Given the description of an element on the screen output the (x, y) to click on. 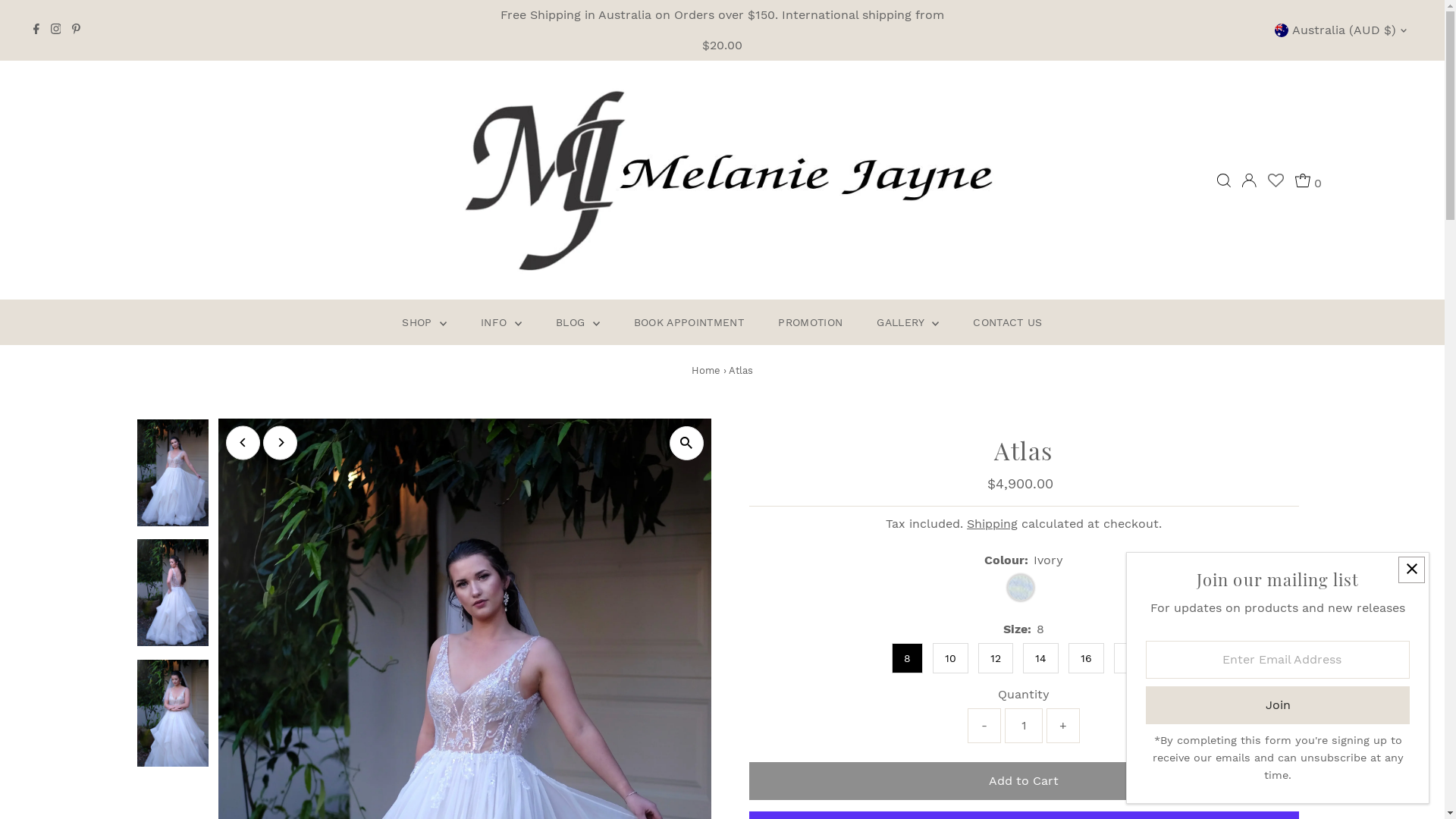
Home Element type: text (705, 370)
CONTACT US Element type: text (1007, 322)
Shipping Element type: text (991, 523)
+ Element type: text (1062, 725)
BOOK APPOINTMENT Element type: text (688, 322)
- Element type: text (984, 725)
Add to Cart Element type: text (1024, 781)
Click to zoom Element type: hover (685, 443)
Join Element type: text (1277, 705)
Australia (AUD $) Element type: text (1342, 30)
PROMOTION Element type: text (809, 322)
